Given the description of an element on the screen output the (x, y) to click on. 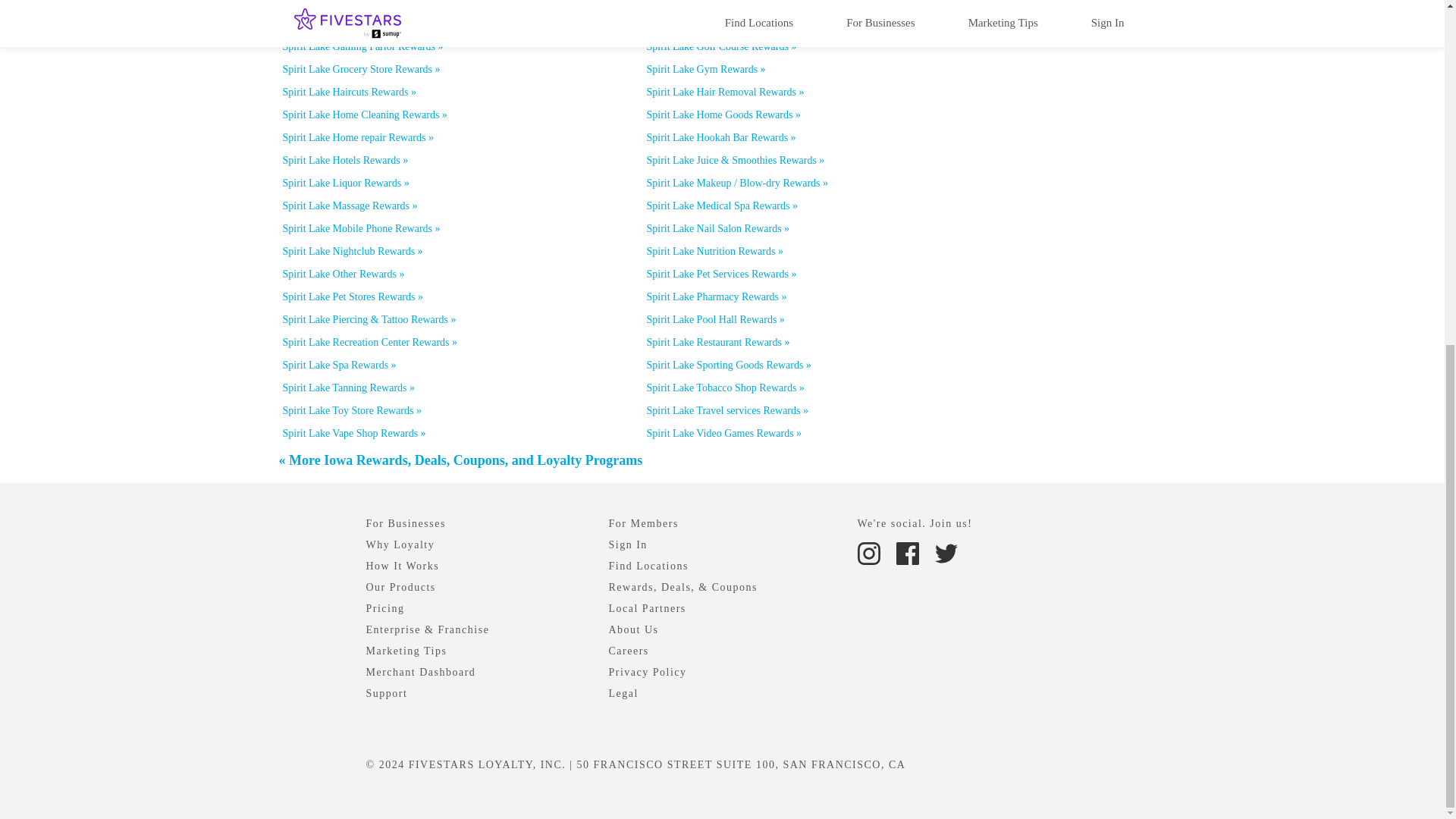
Fivestars Twitter (945, 553)
Find Locations (647, 565)
Fivestars Facebook (908, 552)
Marketing Tips and Blog (405, 650)
Fivestars Instagram (869, 552)
Merchant Dashboard and Analytics (420, 672)
Fivestars Twitter (945, 552)
Fivestars Facebook (907, 553)
Support and Customer Service (386, 693)
Fivestars Instagram (868, 553)
